Given the description of an element on the screen output the (x, y) to click on. 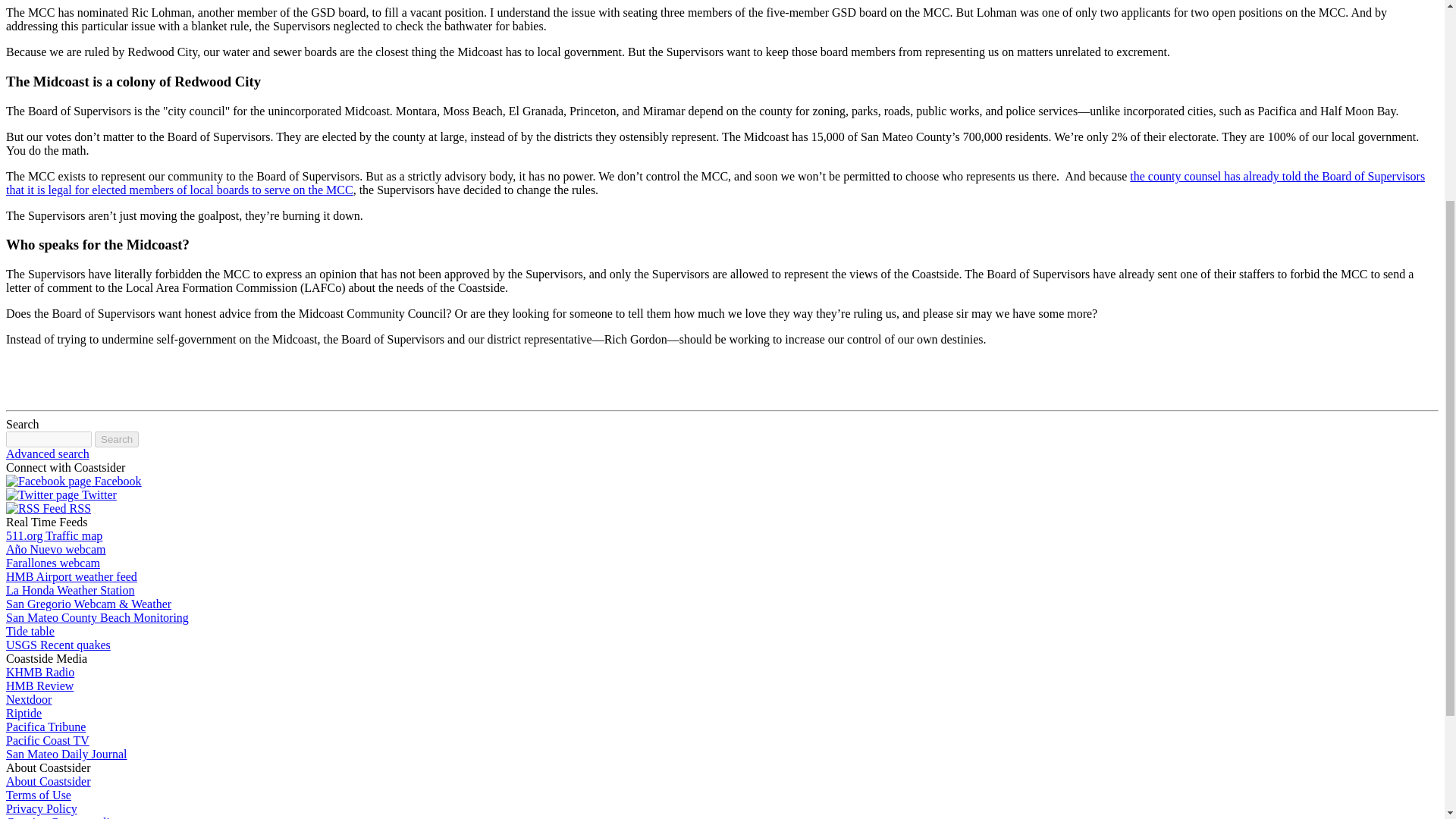
San Mateo County Beach Monitoring (97, 617)
 RSS (47, 508)
HMB Airport weather feed (70, 576)
Nextdoor (27, 698)
 Facebook (73, 481)
HMB Review (39, 685)
KHMB Radio (39, 671)
Search (116, 439)
Twitter (41, 495)
About Coastsider (47, 780)
